Given the description of an element on the screen output the (x, y) to click on. 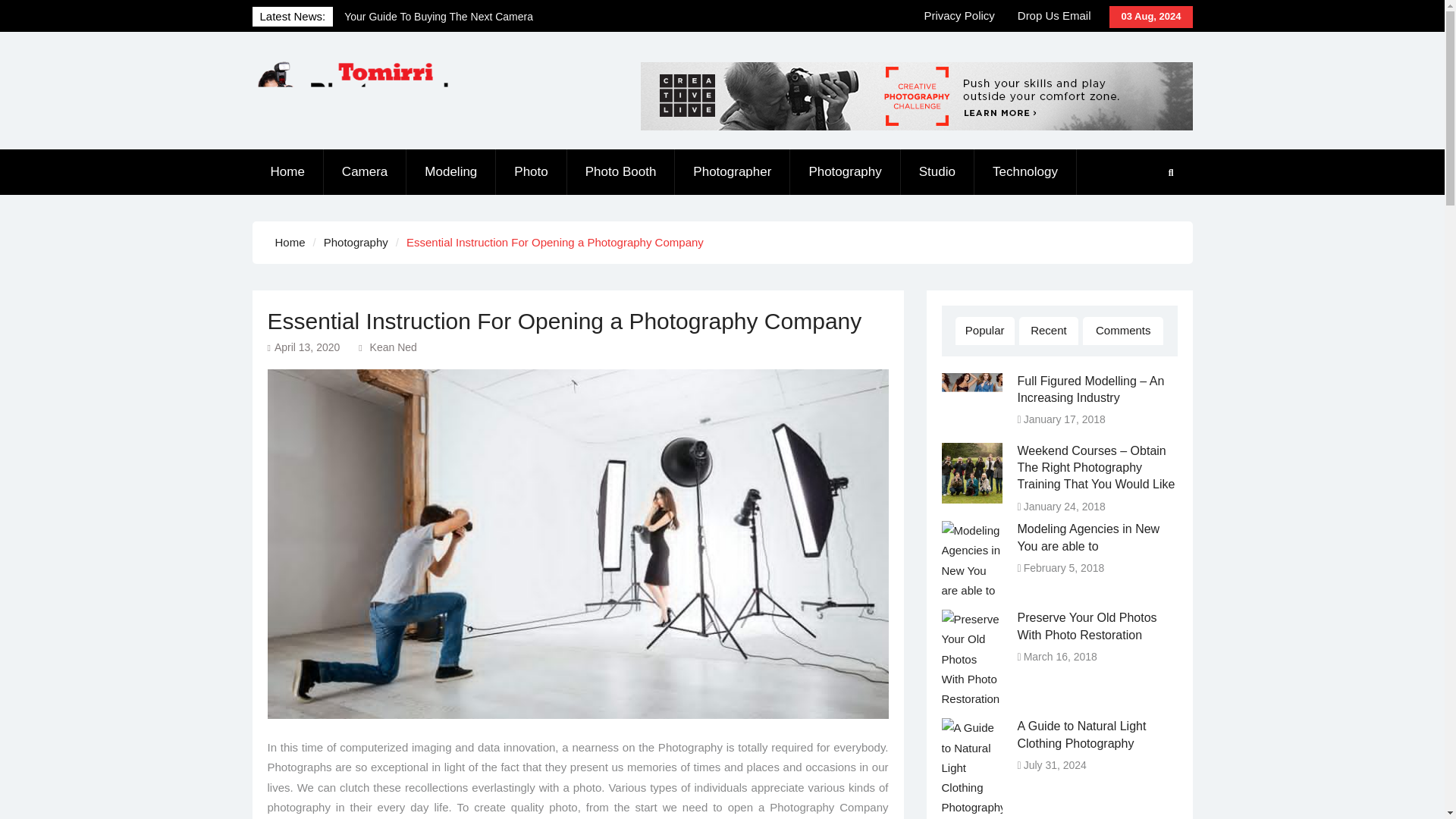
Photo (531, 171)
Kean Ned (392, 346)
Camera (364, 171)
Studio (937, 171)
Home (289, 241)
Home (287, 171)
April 13, 2020 (307, 346)
Photo Booth (621, 171)
Modeling (451, 171)
Privacy Policy (959, 15)
Drop Us Email (1054, 15)
Photographer (732, 171)
